Given the description of an element on the screen output the (x, y) to click on. 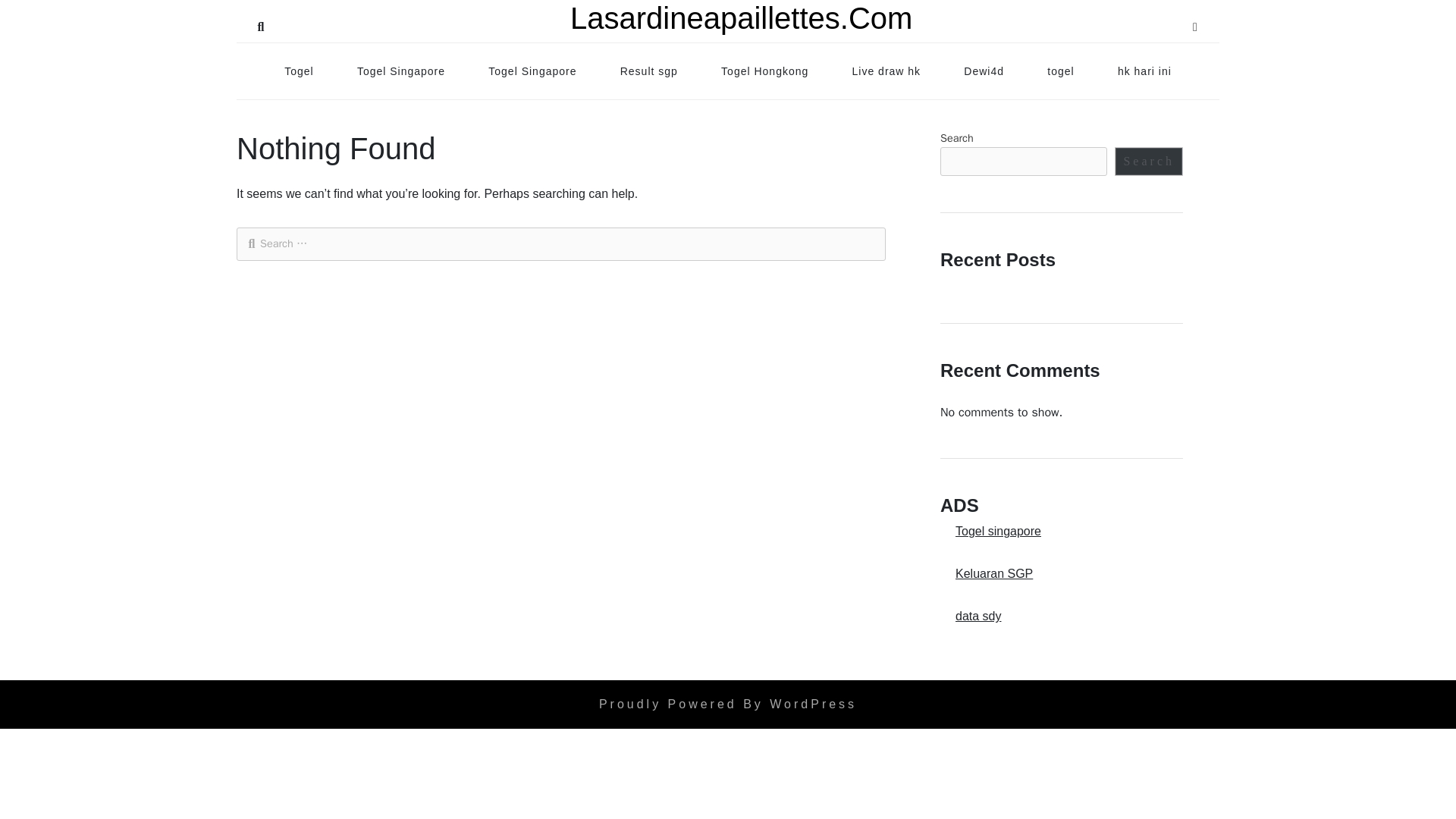
Menu (1195, 24)
Dewi4d (984, 71)
Result sgp (649, 71)
Togel singapore (990, 530)
hk hari ini (1144, 71)
Togel Singapore (401, 71)
Togel Hongkong (765, 71)
Keluaran SGP (986, 573)
Lasardineapaillettes.Com (741, 18)
data sdy (970, 615)
